Given the description of an element on the screen output the (x, y) to click on. 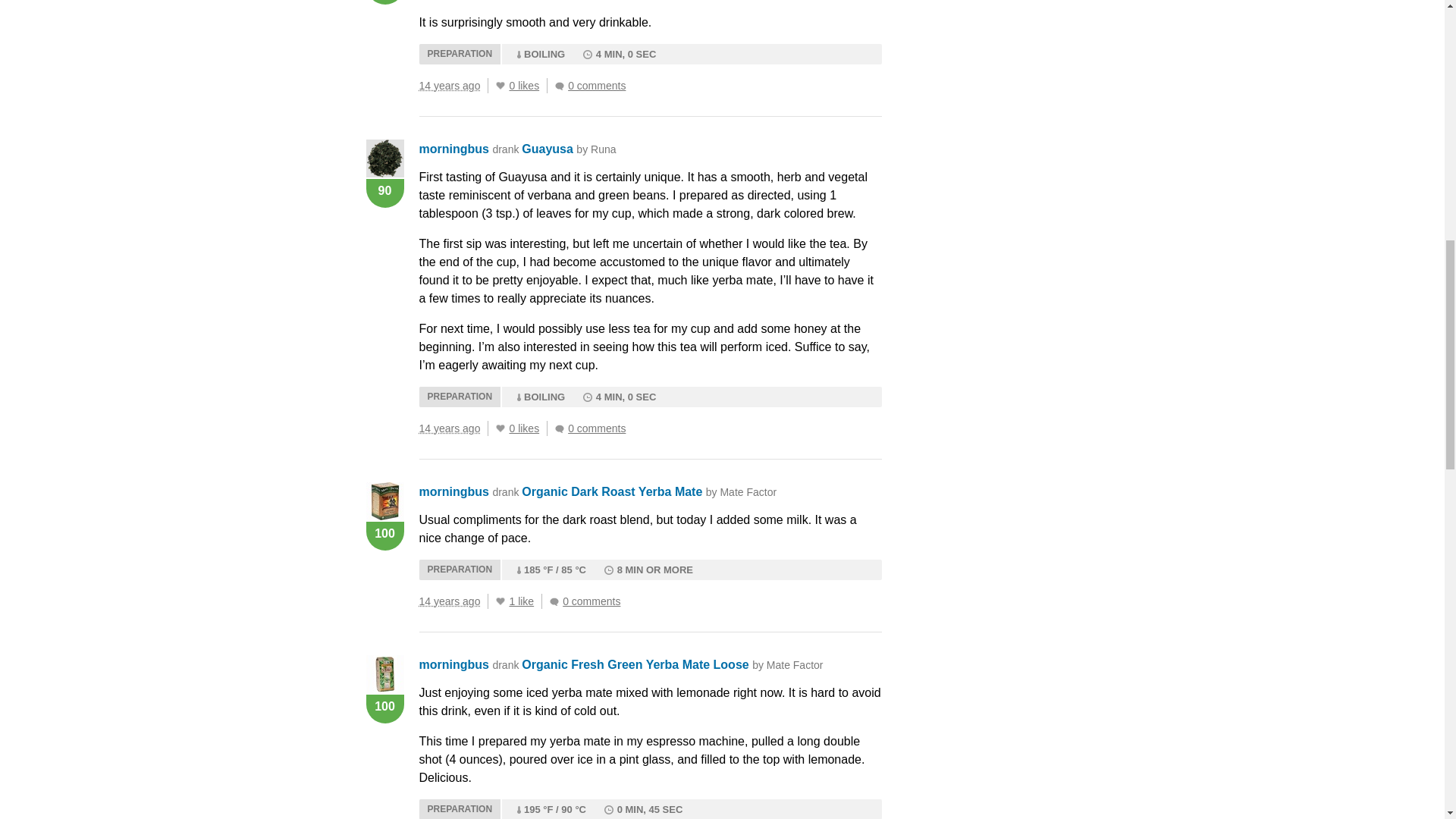
2010-04-14T01:37:24Z (449, 601)
2010-04-16T22:33:15Z (449, 85)
2010-04-16T21:47:08Z (449, 428)
Like This (500, 85)
Like This (500, 601)
Like This (500, 428)
